Given the description of an element on the screen output the (x, y) to click on. 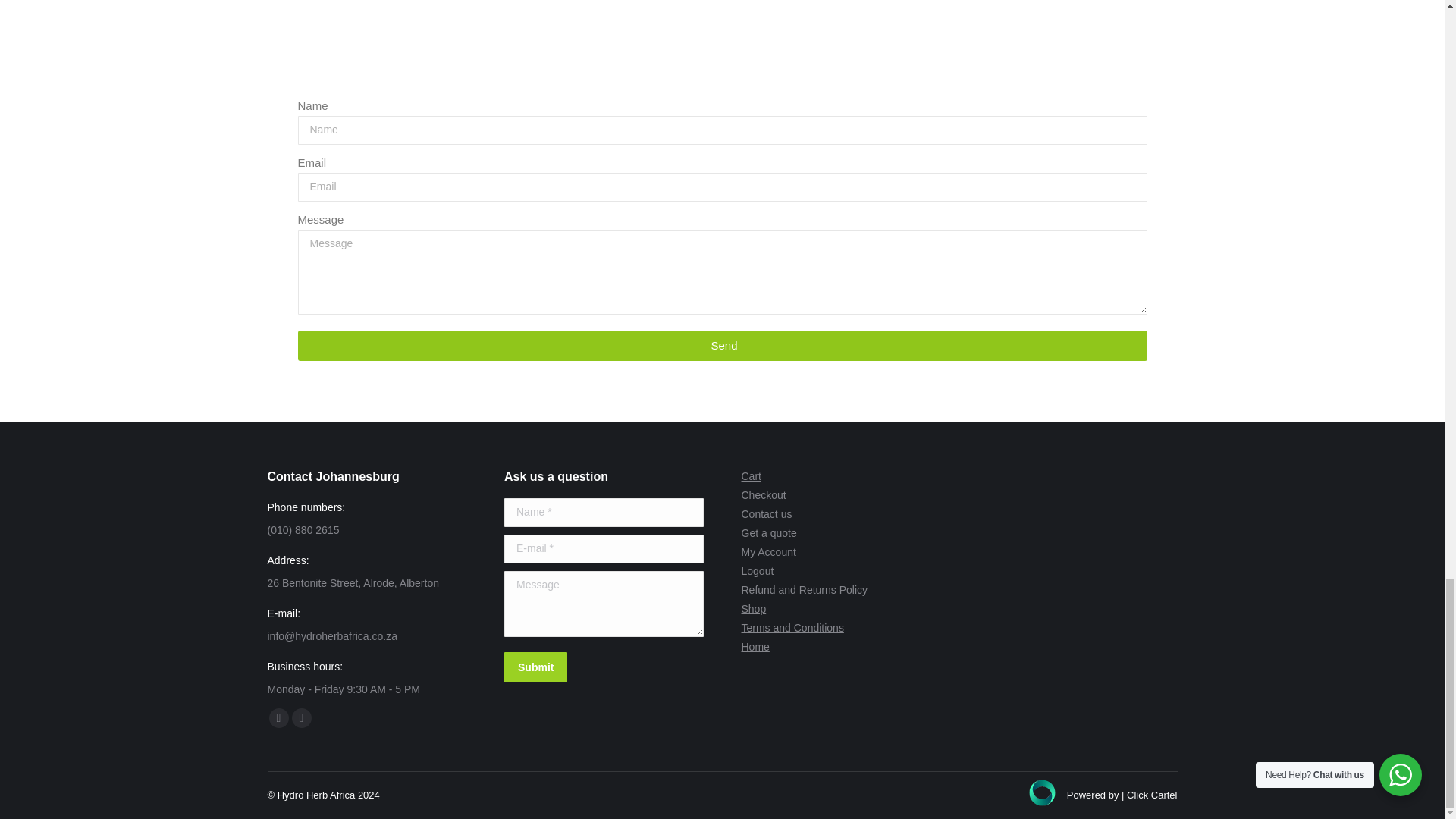
Mail page opens in new window (301, 718)
Facebook page opens in new window (277, 718)
submit (607, 668)
26 Bentonite Street, Alrode, Alberton (722, 40)
